Given the description of an element on the screen output the (x, y) to click on. 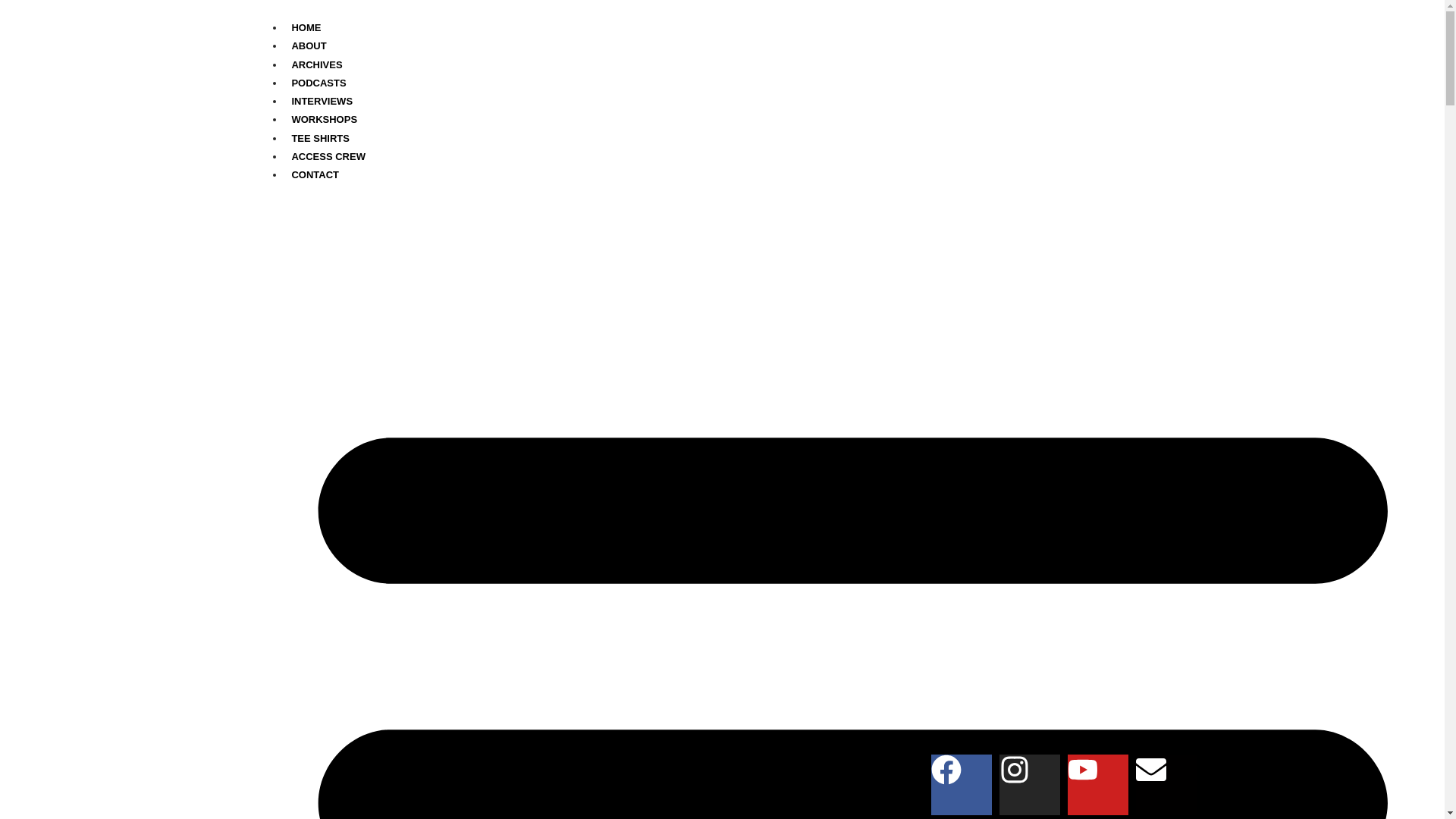
WORKSHOPS (323, 119)
ABOUT (308, 45)
CONTACT (314, 174)
ARCHIVES (316, 65)
ACCESS CREW (327, 156)
PODCASTS (317, 83)
INTERVIEWS (321, 101)
HOME (305, 27)
TEE SHIRTS (319, 138)
